Given the description of an element on the screen output the (x, y) to click on. 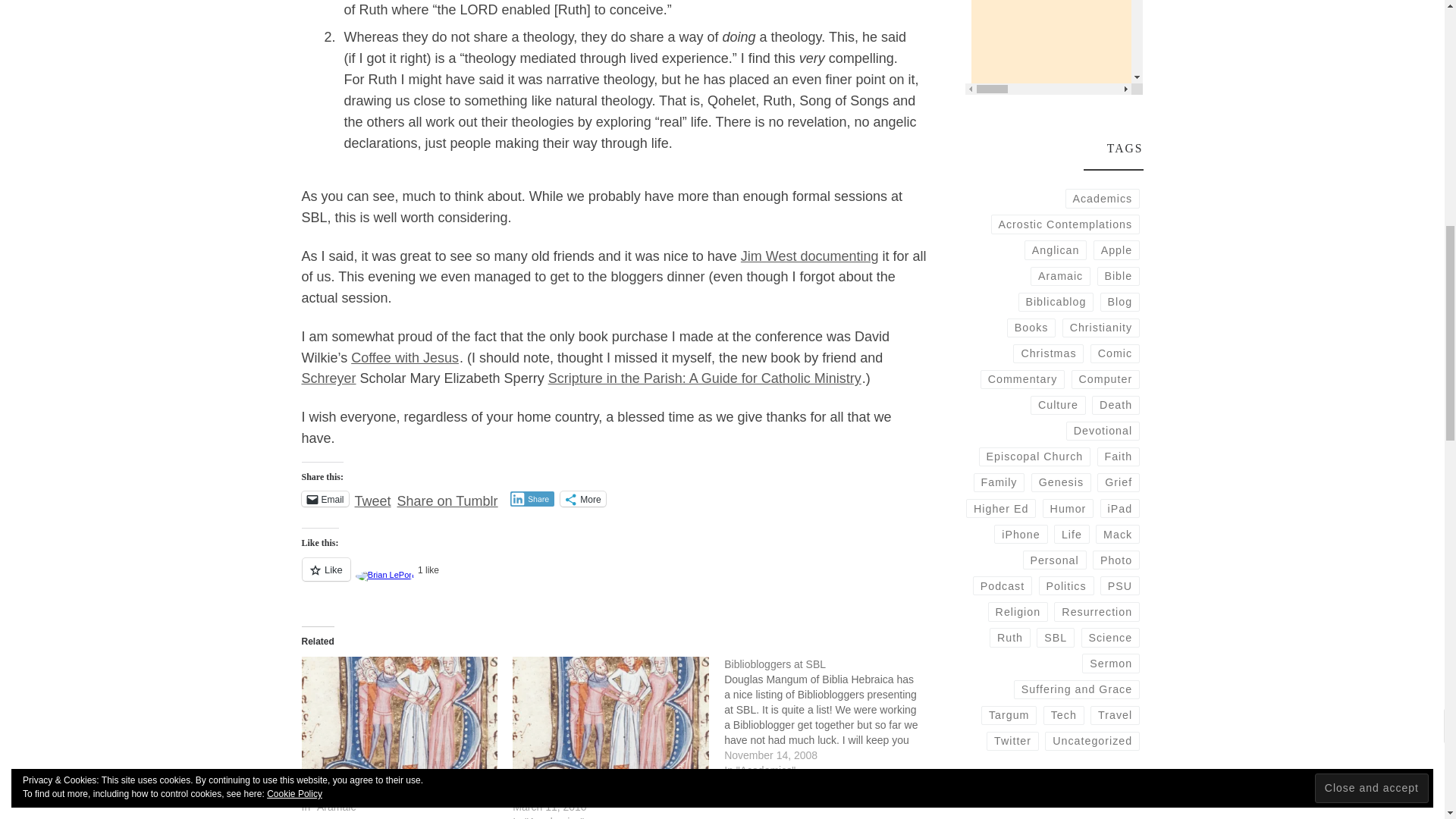
My place of work. (328, 378)
Share on Tumblr (447, 498)
JW (810, 255)
Click to email a link to a friend (325, 498)
